Given the description of an element on the screen output the (x, y) to click on. 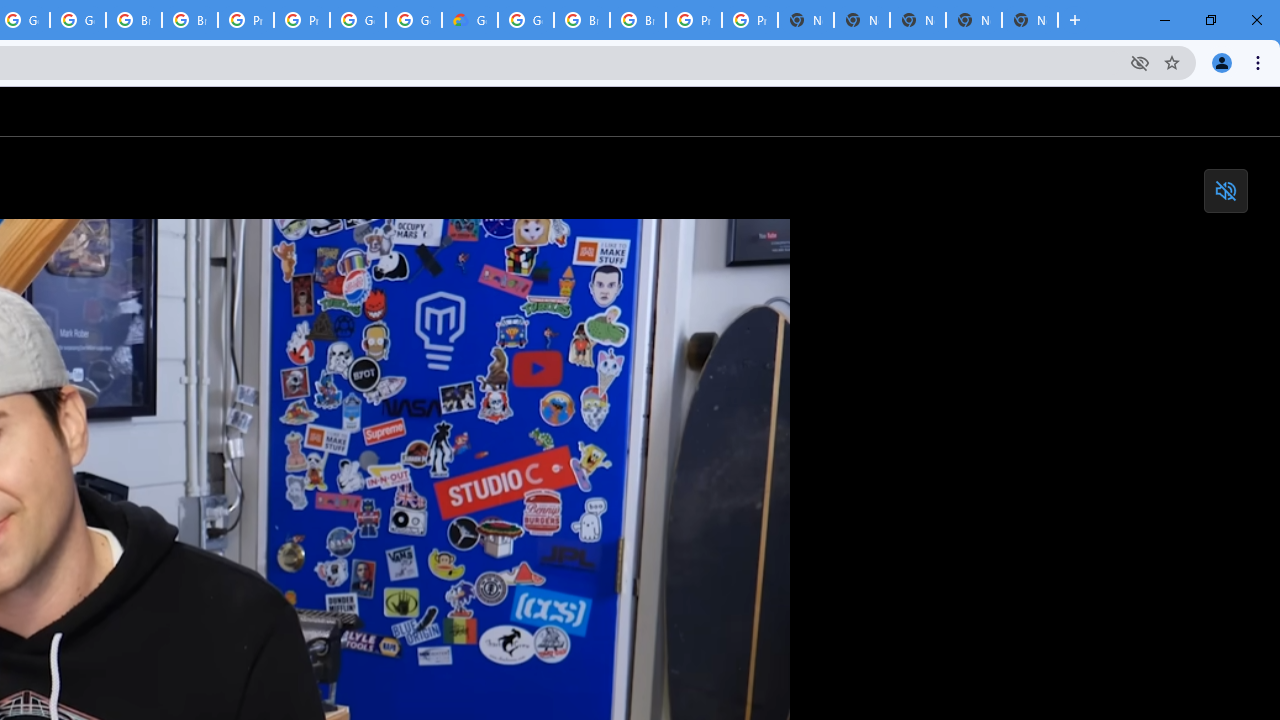
Google Cloud Estimate Summary (469, 20)
New Tab (1030, 20)
Browse Chrome as a guest - Computer - Google Chrome Help (582, 20)
